Given the description of an element on the screen output the (x, y) to click on. 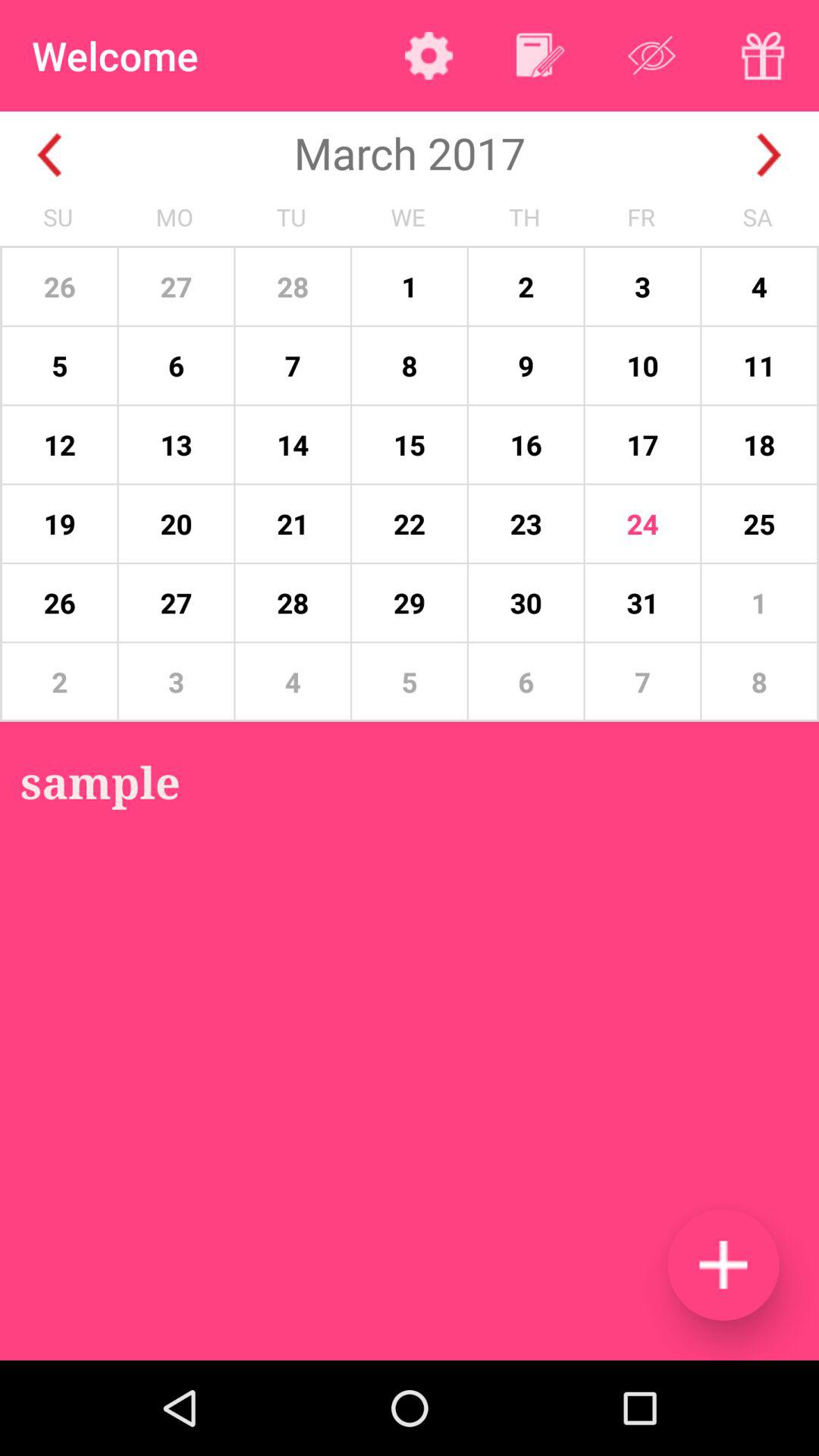
toggle viewing option (651, 55)
